Given the description of an element on the screen output the (x, y) to click on. 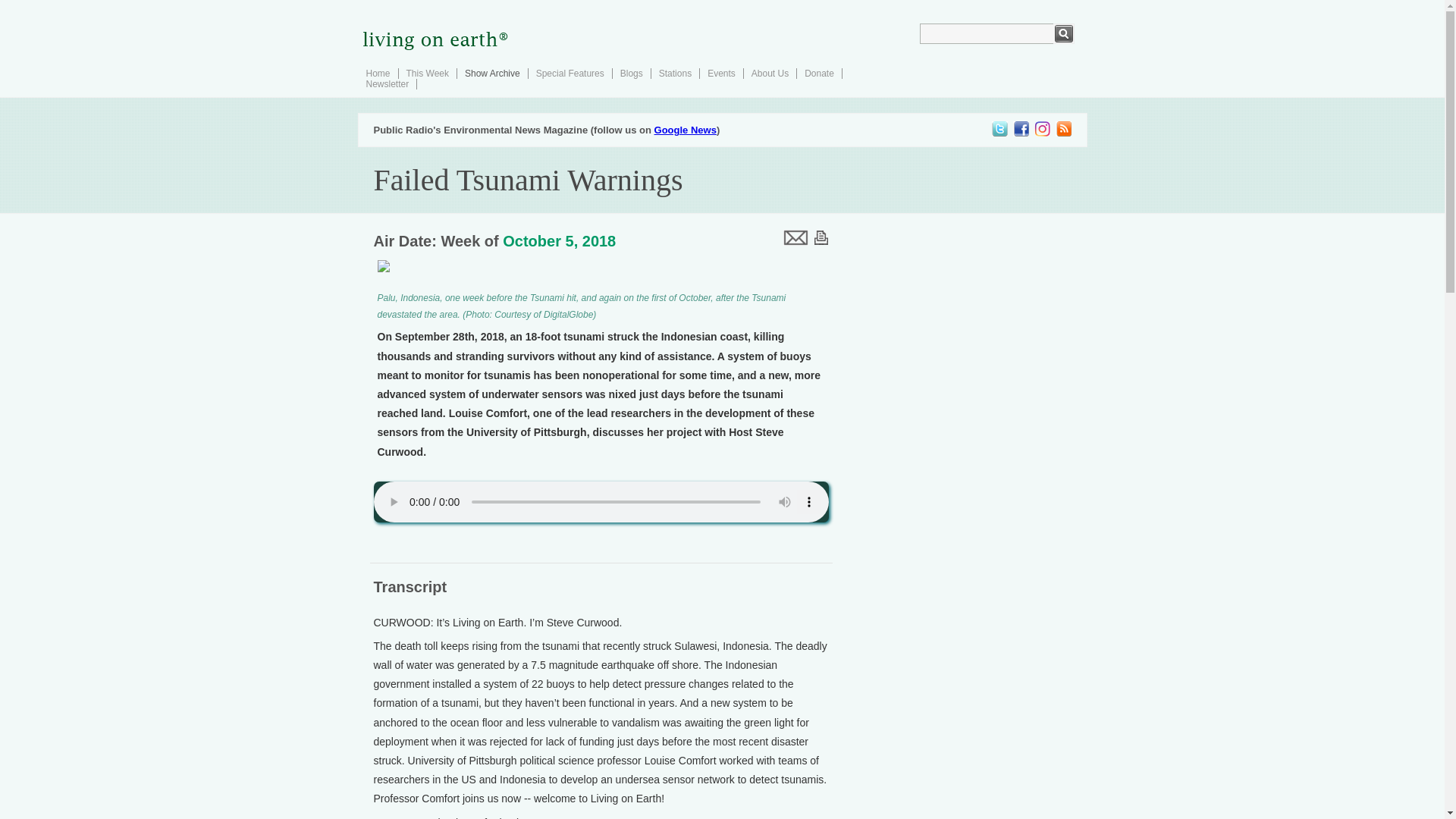
Newsletter (387, 83)
Stations (675, 72)
Google News (684, 129)
Special Features (569, 72)
Events (721, 72)
About Us (770, 72)
Blogs (631, 72)
This Week (427, 72)
print (819, 236)
Home (377, 72)
Show Archive (491, 72)
Donate (819, 72)
October 5, 2018 (558, 240)
email (794, 236)
